Given the description of an element on the screen output the (x, y) to click on. 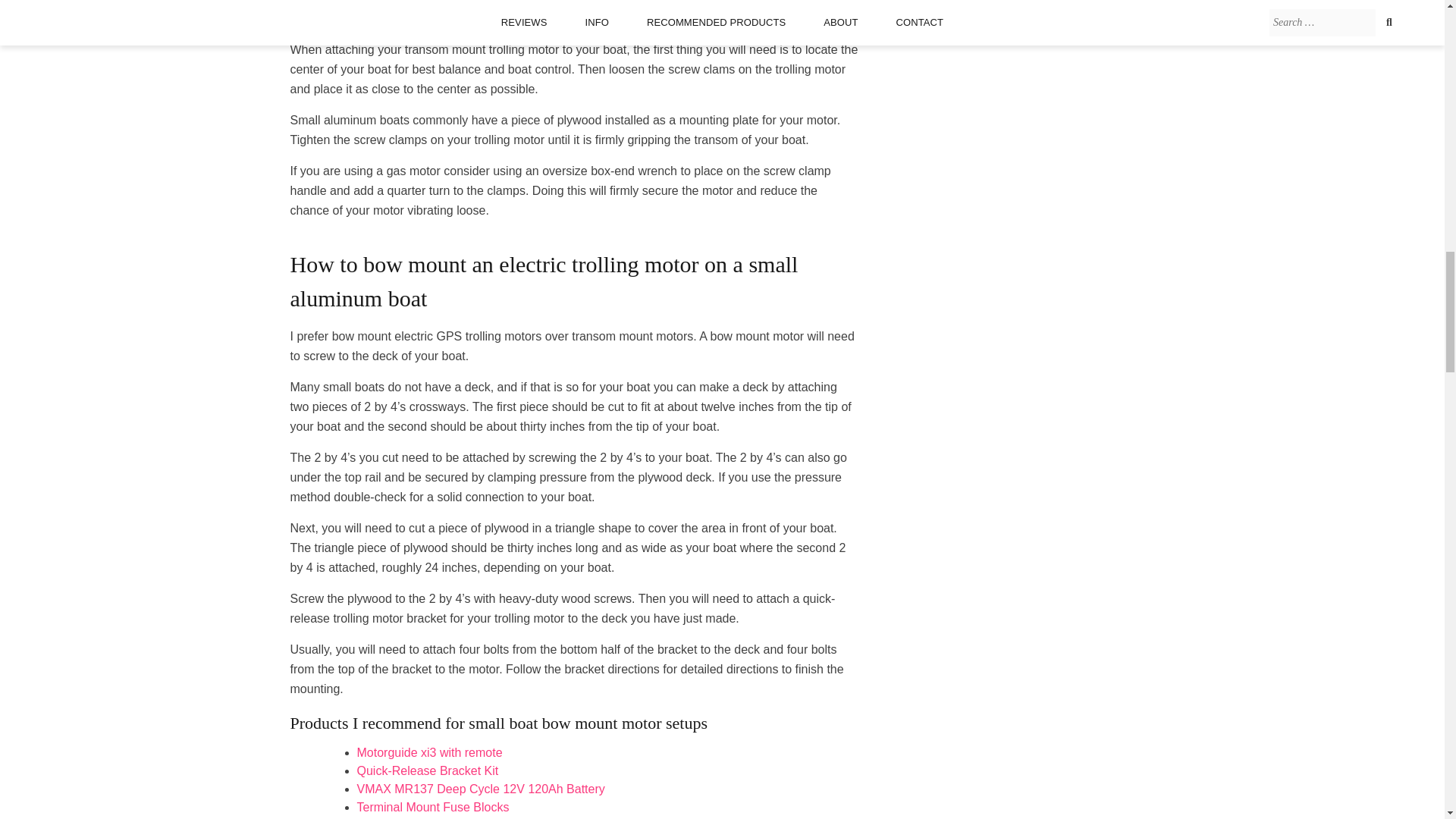
Motorguide xi3 with remote (429, 752)
Quick-Release Bracket Kit (426, 770)
VMAX MR137 Deep Cycle 12V 120Ah Battery (480, 788)
Terminal Mount Fuse Blocks (432, 807)
